Given the description of an element on the screen output the (x, y) to click on. 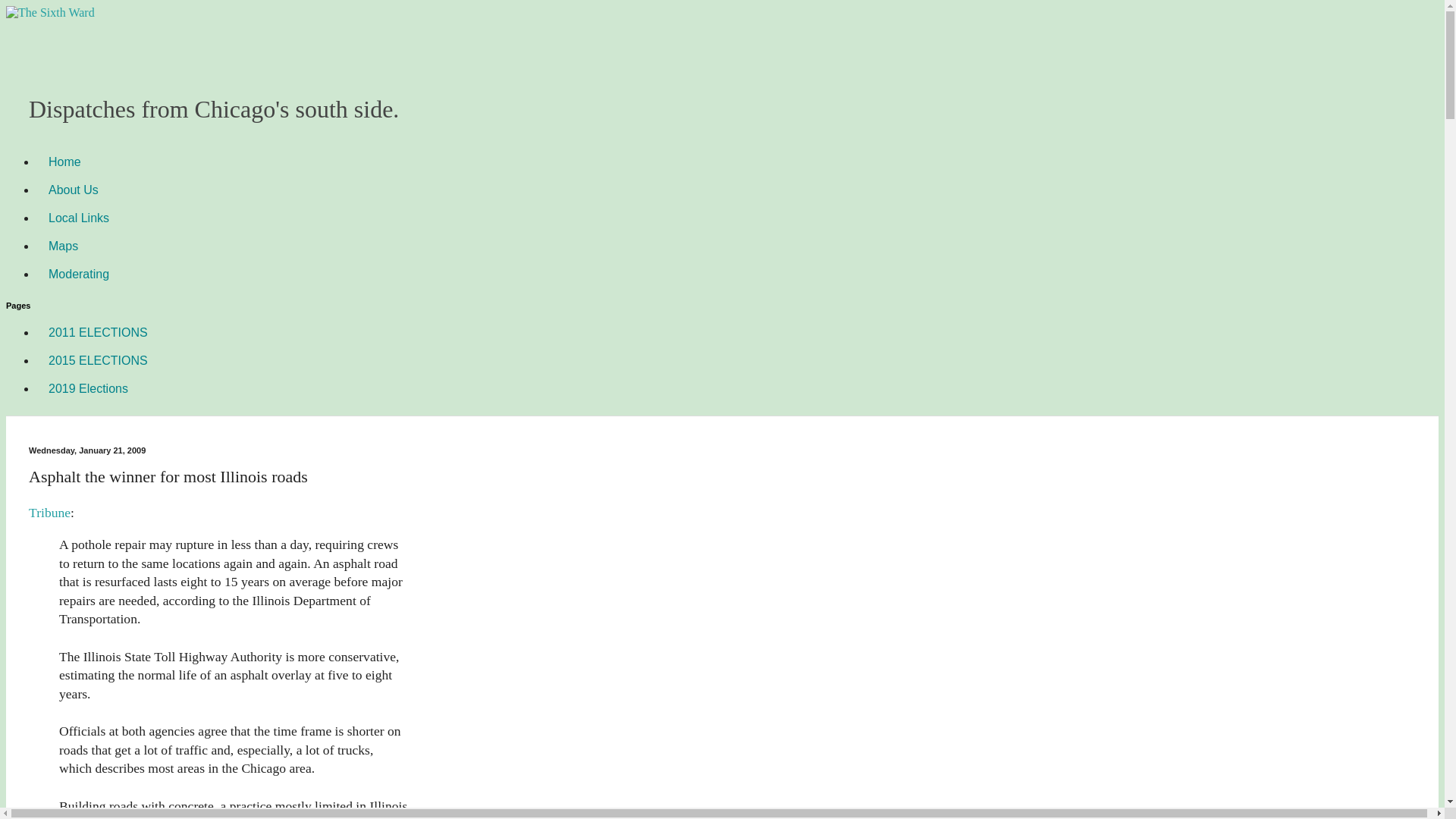
2015 ELECTIONS (98, 360)
Maps (63, 246)
Local Links (78, 217)
Tribune (49, 512)
2019 Elections (87, 388)
About Us (73, 189)
2011 ELECTIONS (98, 332)
Moderating (78, 275)
Home (64, 162)
